Given the description of an element on the screen output the (x, y) to click on. 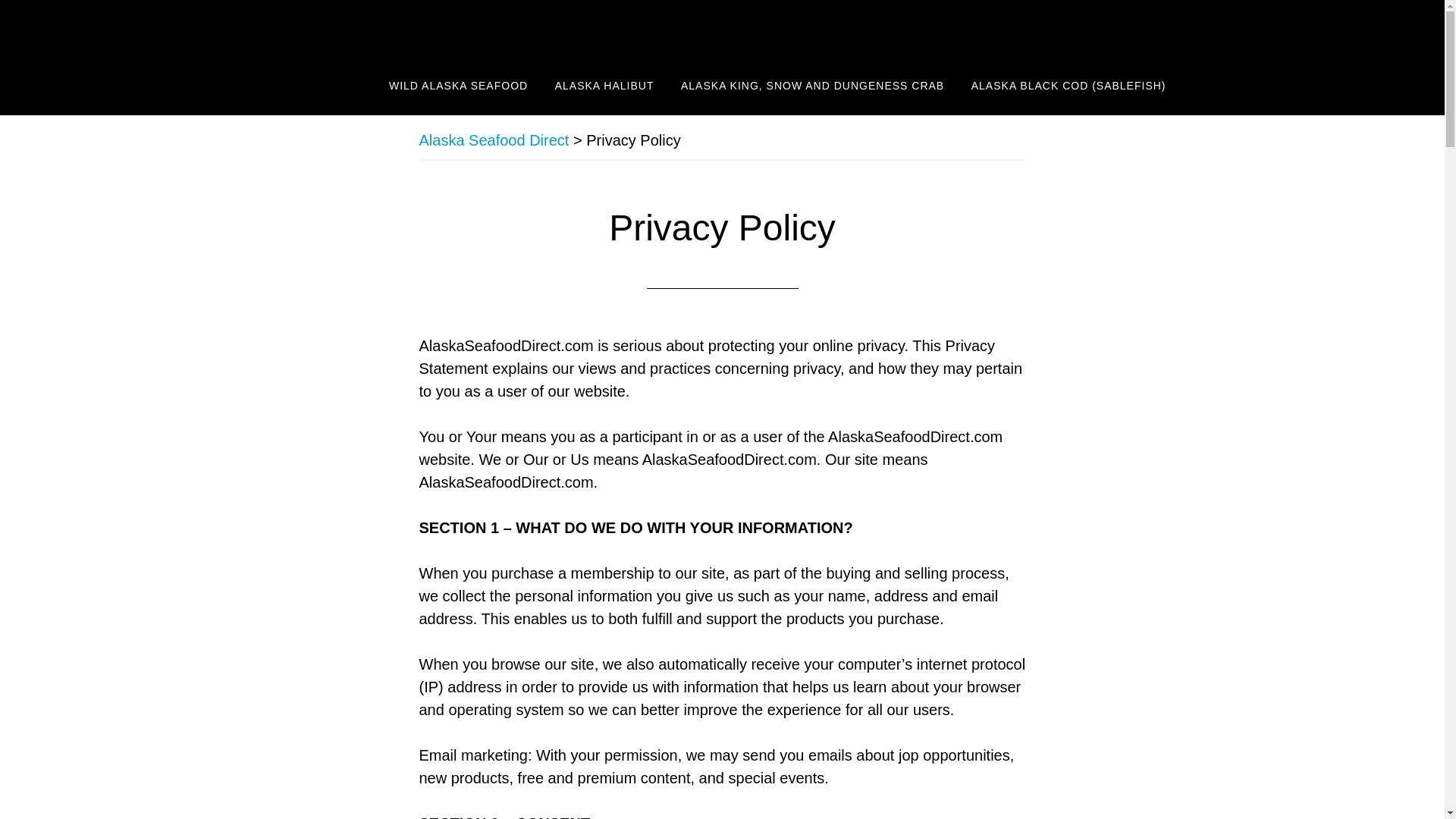
ALASKA SEAFOOD DIRECT (403, 28)
WILD ALASKA SEAFOOD (457, 86)
Go to Alaska Seafood Direct. (494, 139)
Alaska Seafood Direct (494, 139)
ALASKA HALIBUT (604, 86)
ALASKA KING, SNOW AND DUNGENESS CRAB (812, 86)
